Given the description of an element on the screen output the (x, y) to click on. 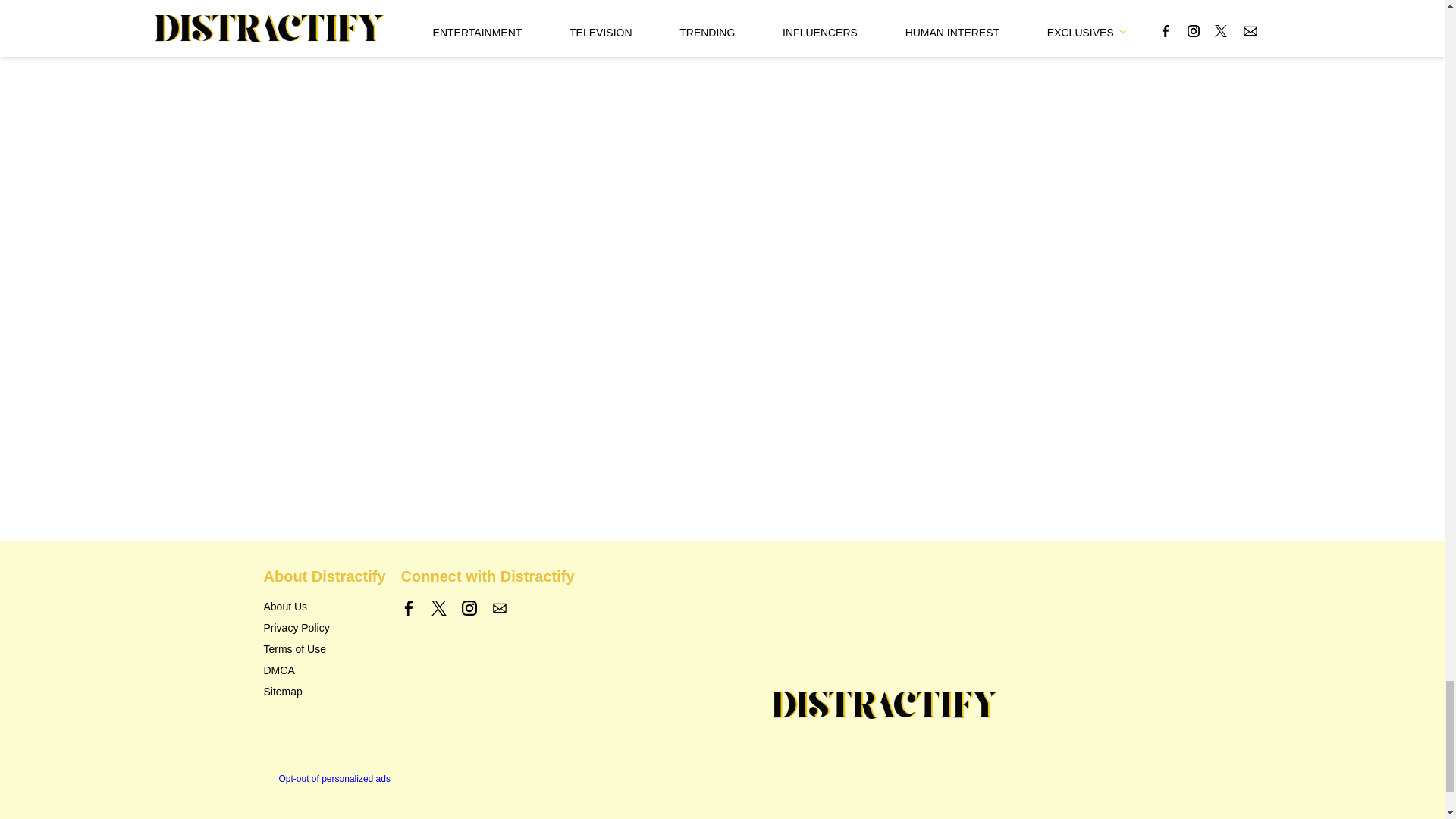
About Us (285, 606)
Terms of Use (294, 648)
Link to Facebook (408, 607)
DMCA (279, 670)
Privacy Policy (296, 627)
Link to Instagram (469, 607)
Contact us by Email (499, 607)
Sitemap (282, 691)
Link to X (438, 607)
About Us (285, 606)
